Given the description of an element on the screen output the (x, y) to click on. 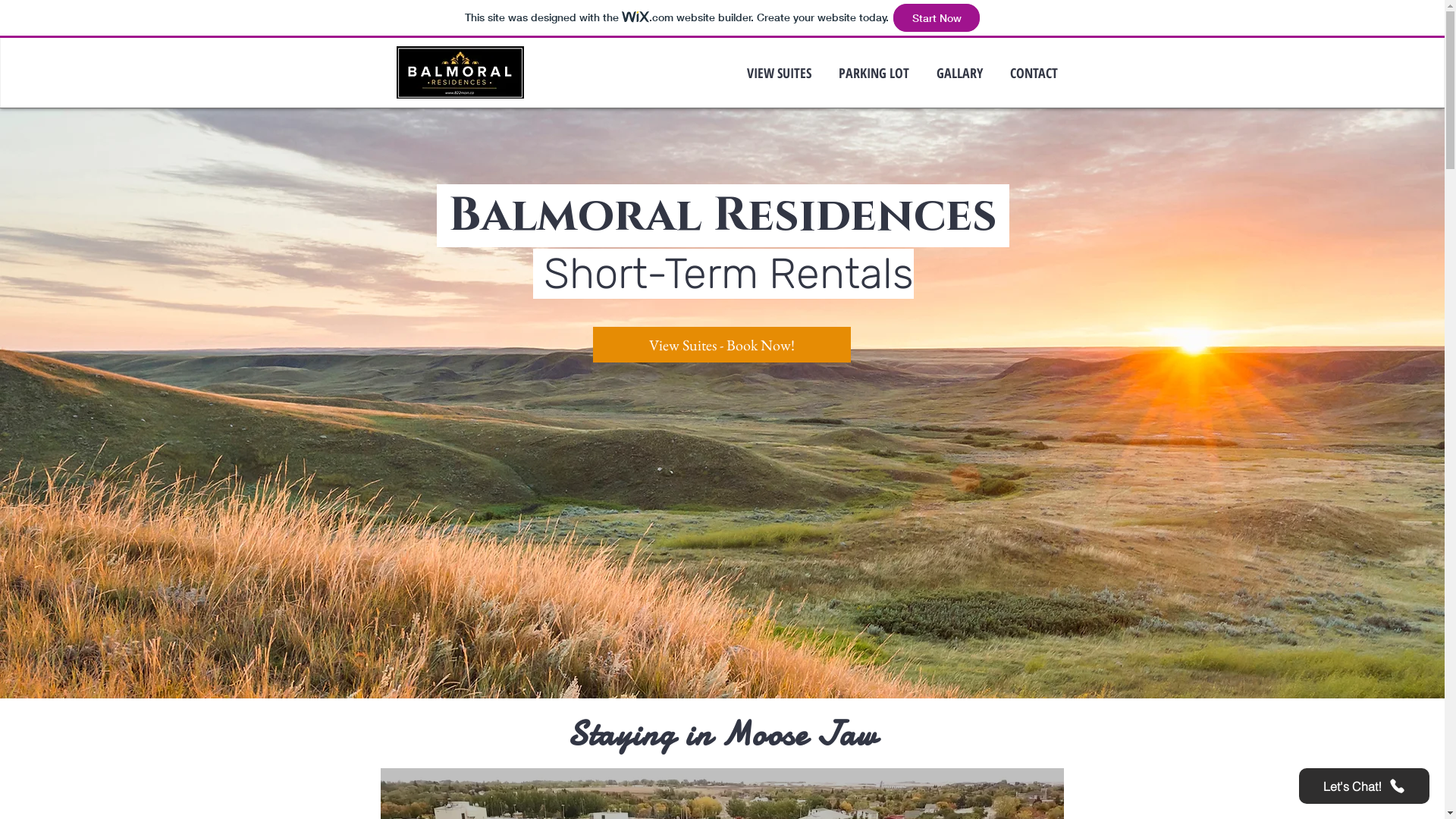
CONTACT Element type: text (1033, 72)
Embedded Content Element type: hover (745, 545)
View Suites - Book Now! Element type: text (721, 344)
VIEW SUITES Element type: text (778, 72)
Let's Chat! Element type: text (1364, 785)
PARKING LOT Element type: text (873, 72)
GALLARY Element type: text (958, 72)
